Given the description of an element on the screen output the (x, y) to click on. 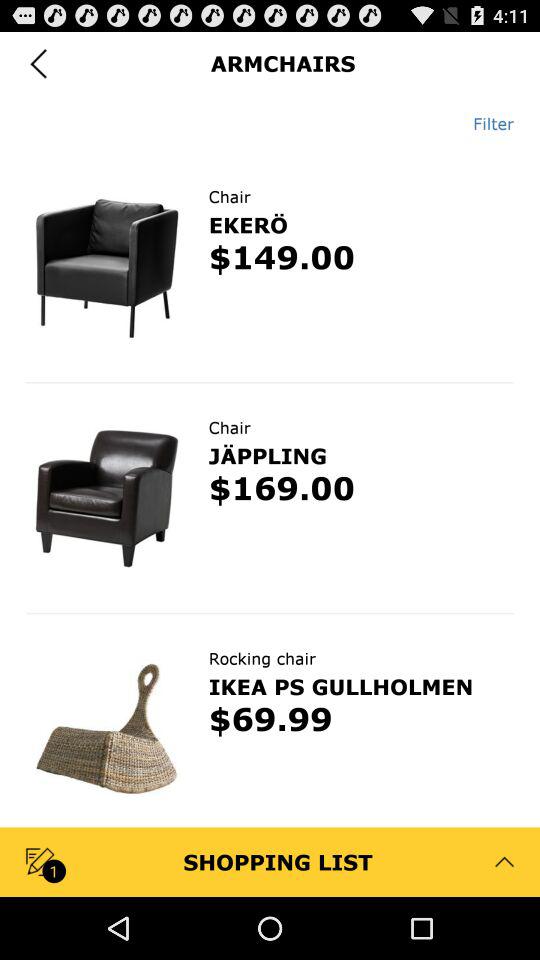
choose the $69.99 app (270, 721)
